Given the description of an element on the screen output the (x, y) to click on. 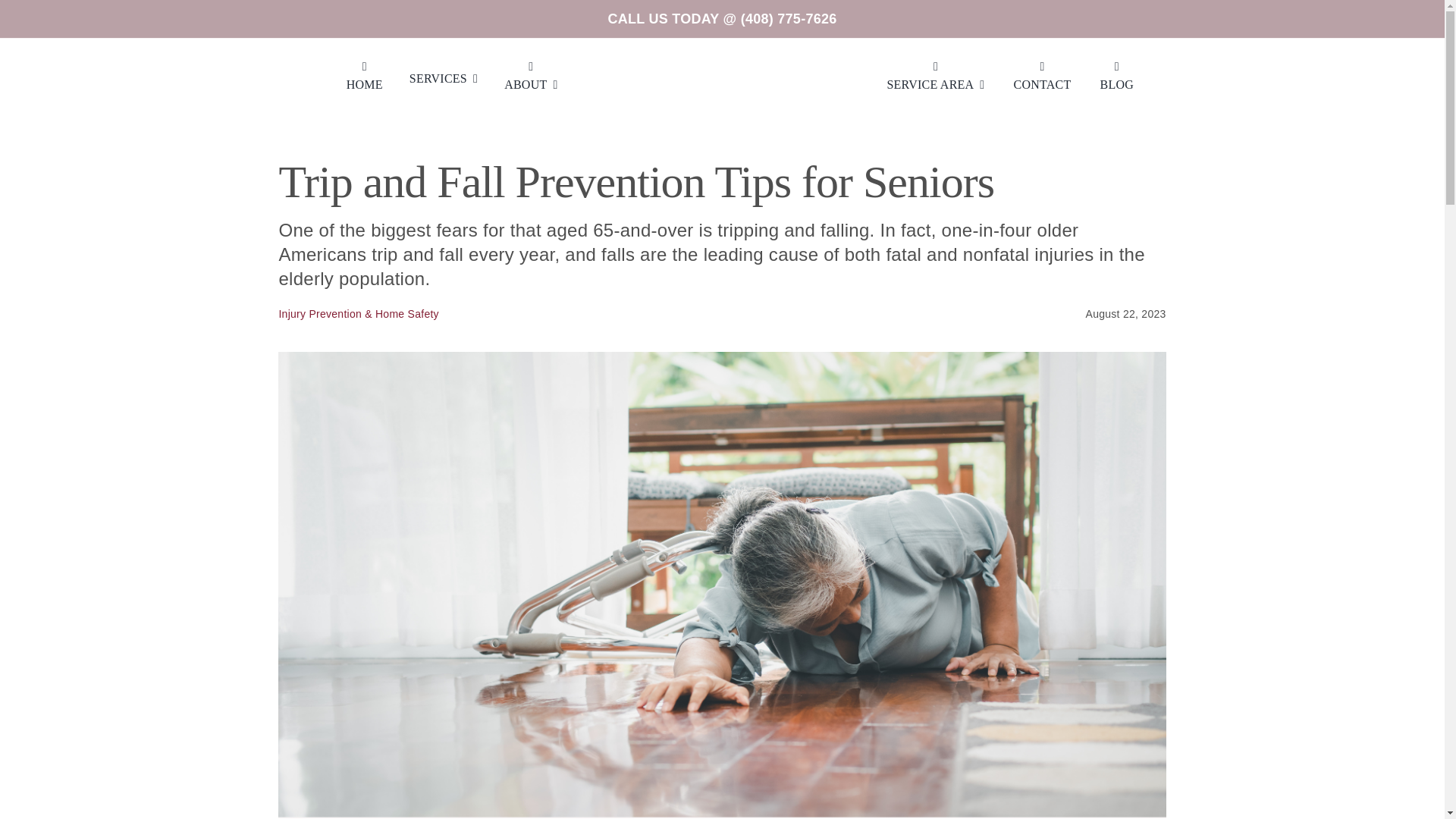
HOME (364, 78)
SERVICES (443, 78)
